Given the description of an element on the screen output the (x, y) to click on. 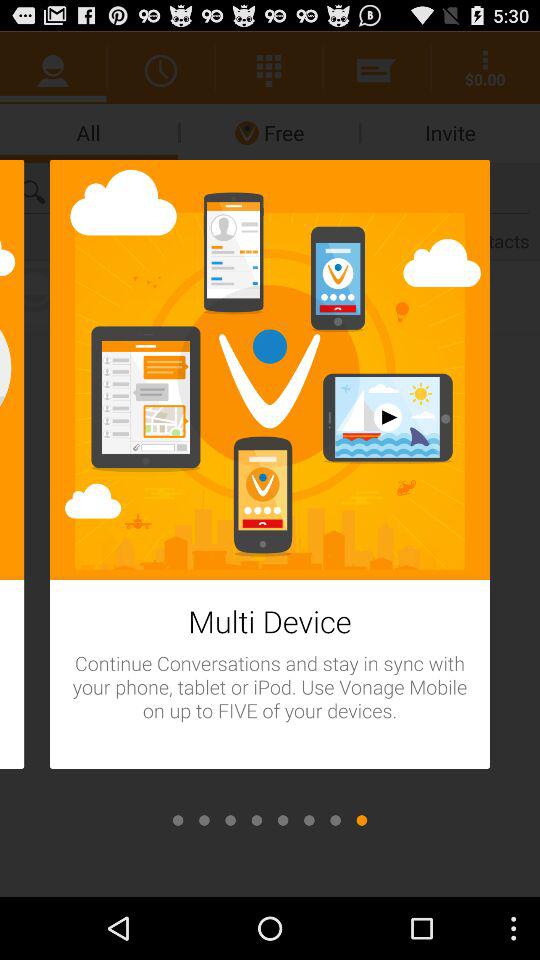
go to the next page (256, 820)
